Given the description of an element on the screen output the (x, y) to click on. 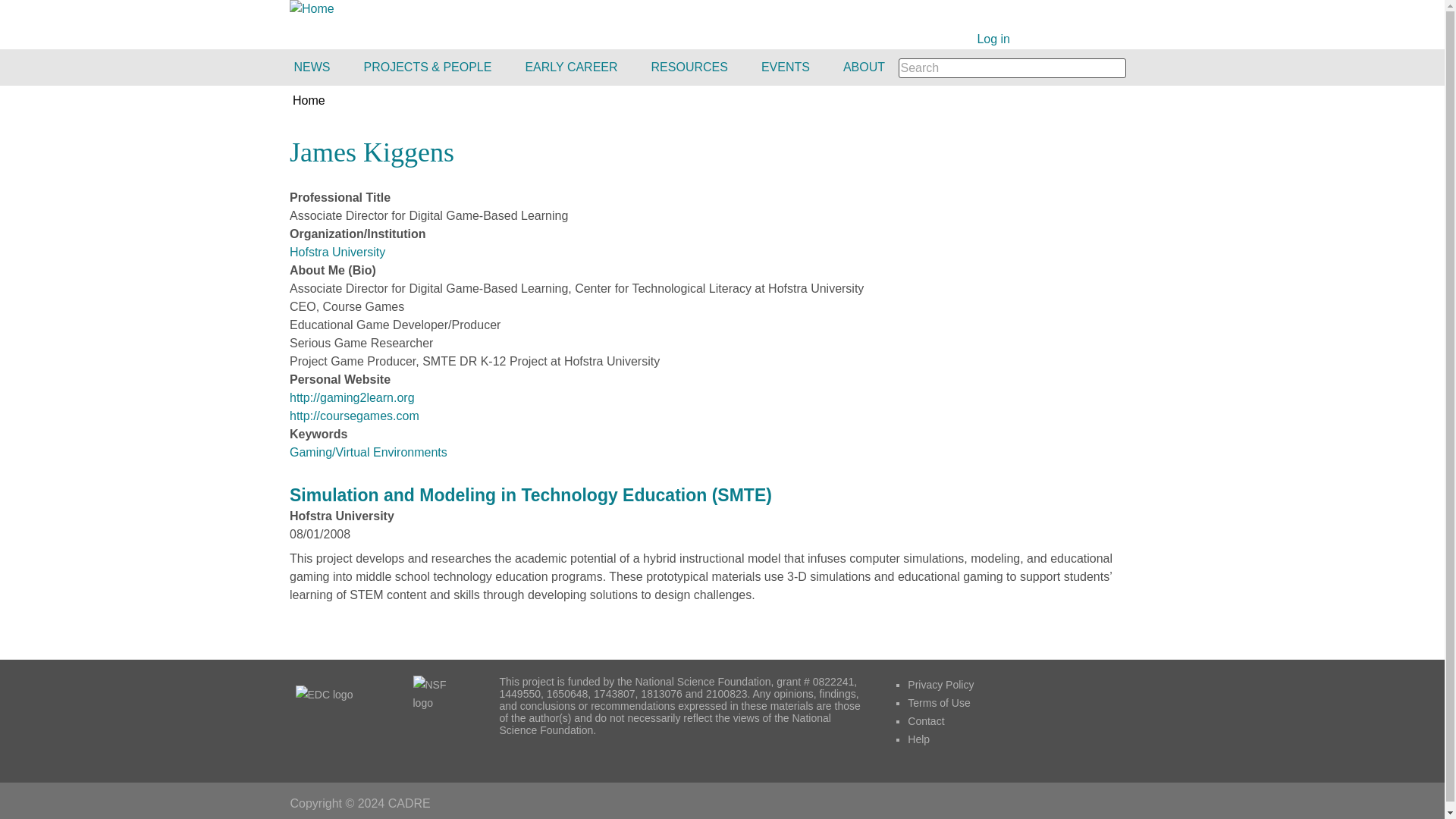
Projects (430, 67)
NEWS (318, 67)
RESOURCES (690, 67)
About CADRE (865, 67)
EVENTS (786, 67)
Email (1074, 39)
LinkedIn (1141, 39)
Apply (1141, 66)
Facebook (1031, 39)
Youtube (1096, 39)
